Given the description of an element on the screen output the (x, y) to click on. 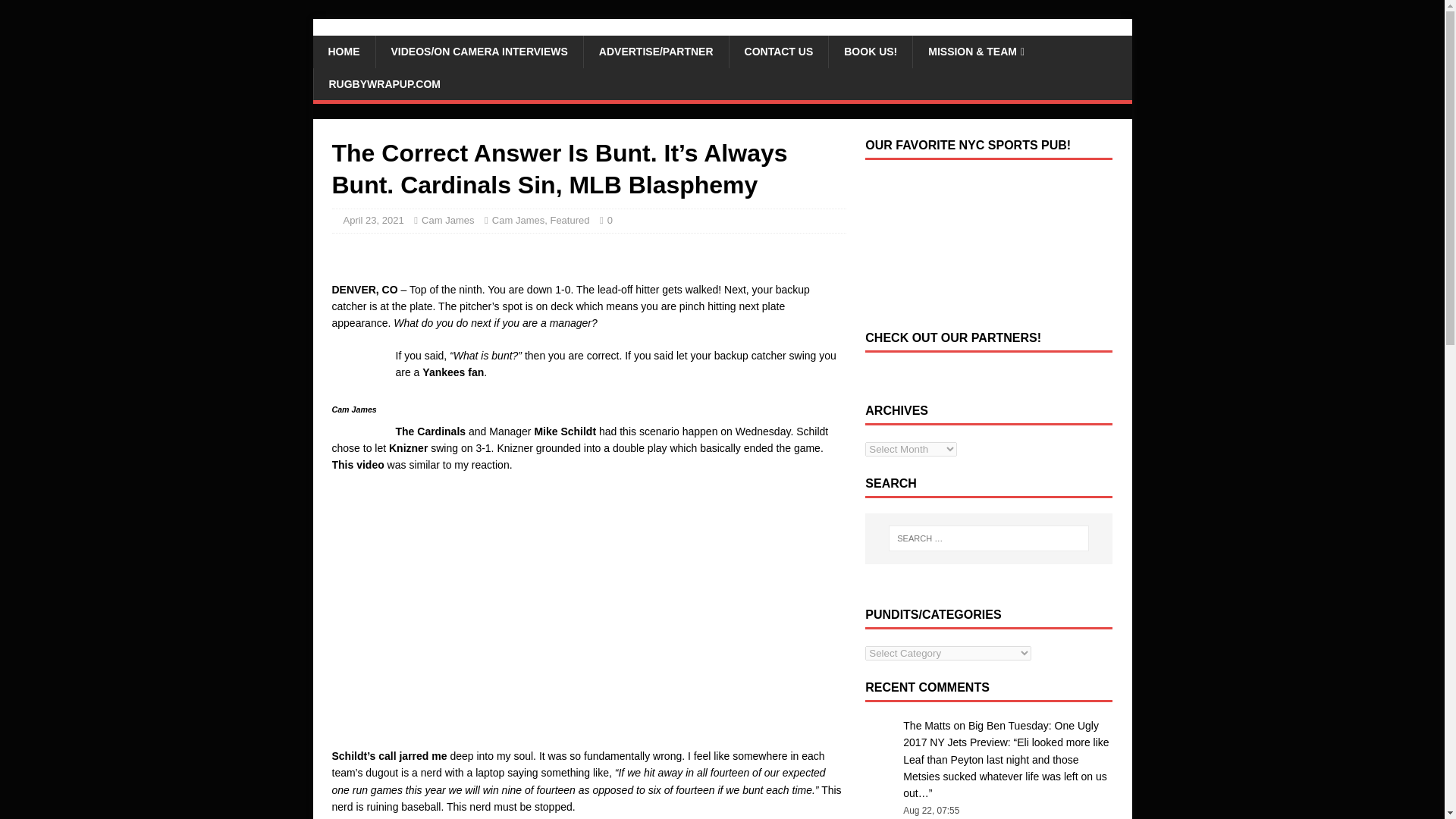
Cam James (448, 220)
Search (56, 11)
HOME (343, 51)
Meet The Matts (355, 27)
Big Ben Tuesday: One Ugly 2017 NY Jets Preview (1000, 733)
BOOK US! (870, 51)
April 23, 2021 (372, 220)
CONTACT US (778, 51)
RUGBYWRAPUP.COM (384, 83)
Cam James (518, 220)
